Given the description of an element on the screen output the (x, y) to click on. 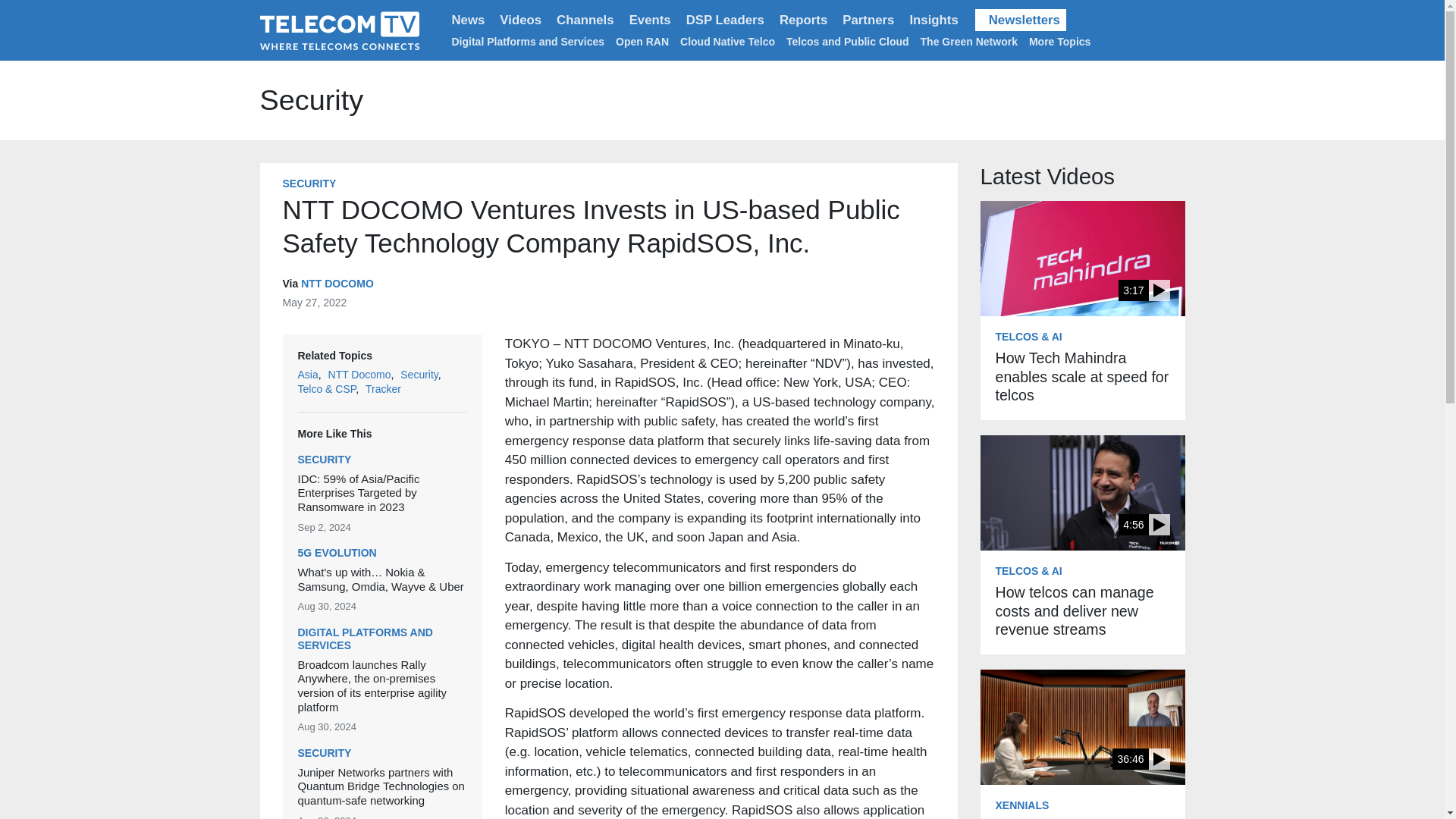
Telcos and Public Cloud (847, 41)
Events (650, 20)
Newsletters (1020, 20)
Insights (932, 20)
The Green Network (968, 41)
Cloud Native Telco (726, 41)
Digital Platforms and Services (528, 41)
Videos (520, 20)
Open RAN (641, 41)
Partners (867, 20)
